Given the description of an element on the screen output the (x, y) to click on. 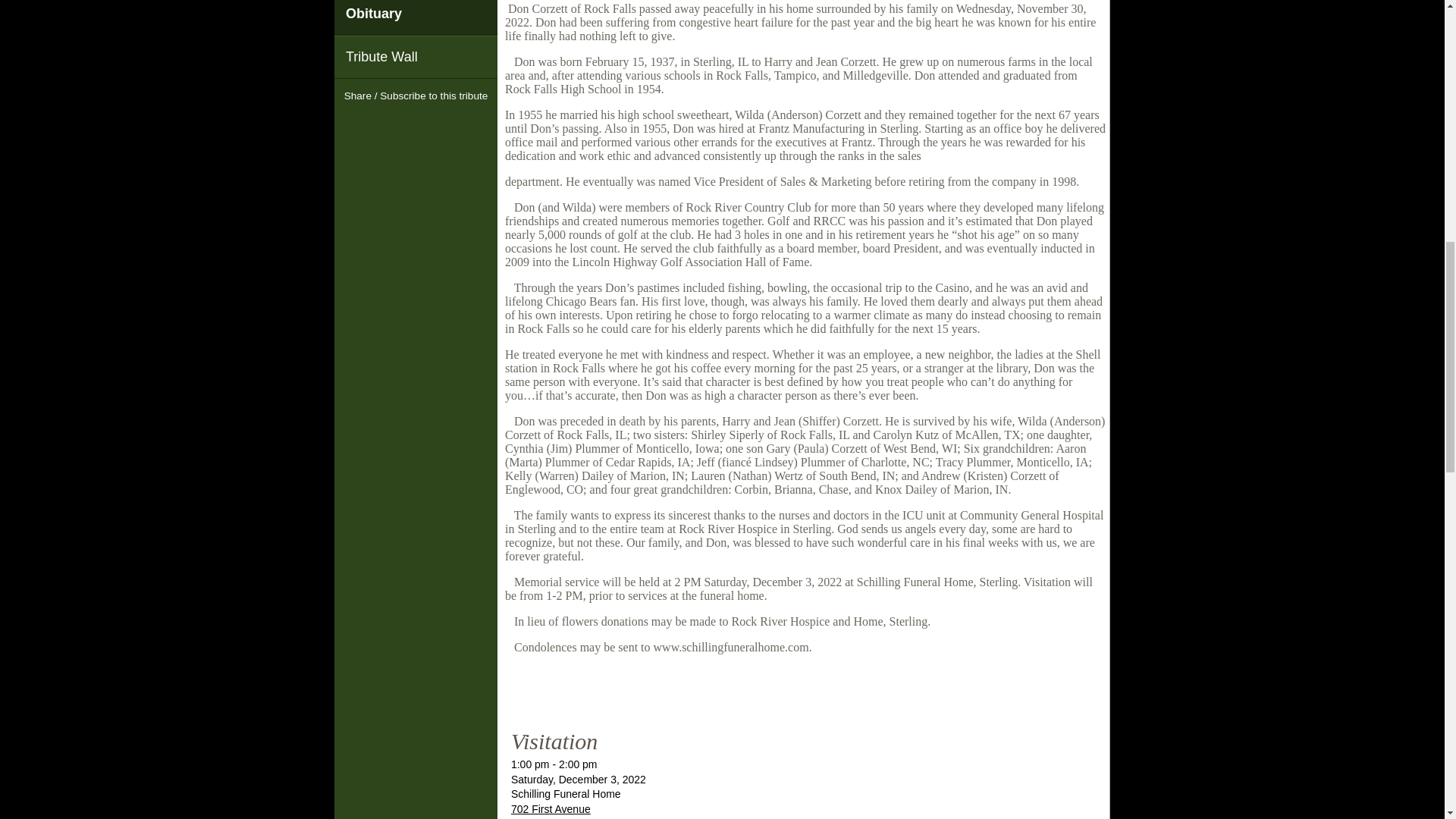
Obituary (415, 17)
Facebook (387, 125)
Twitter (415, 125)
Tribute Wall (415, 56)
Receive Notifications (442, 125)
